Given the description of an element on the screen output the (x, y) to click on. 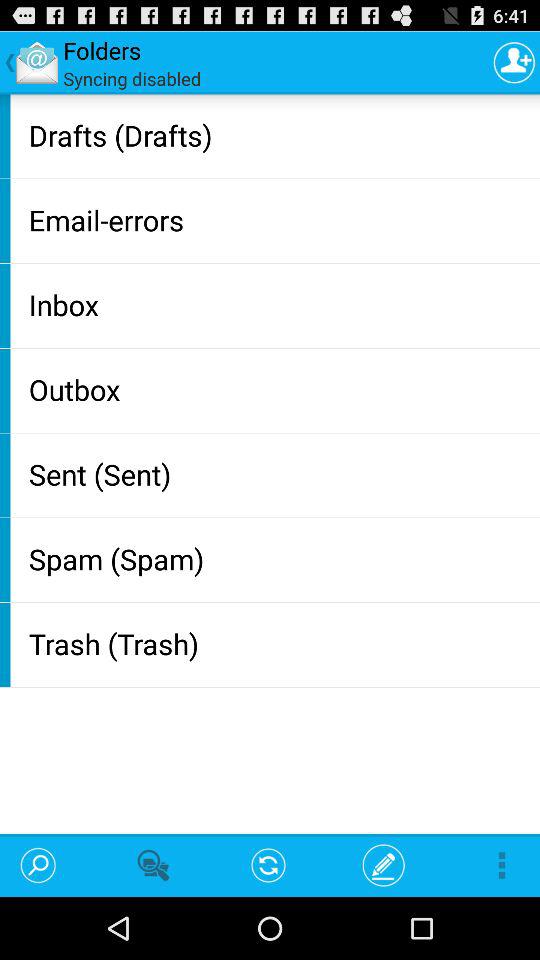
tap the spam (spam) (280, 558)
